Given the description of an element on the screen output the (x, y) to click on. 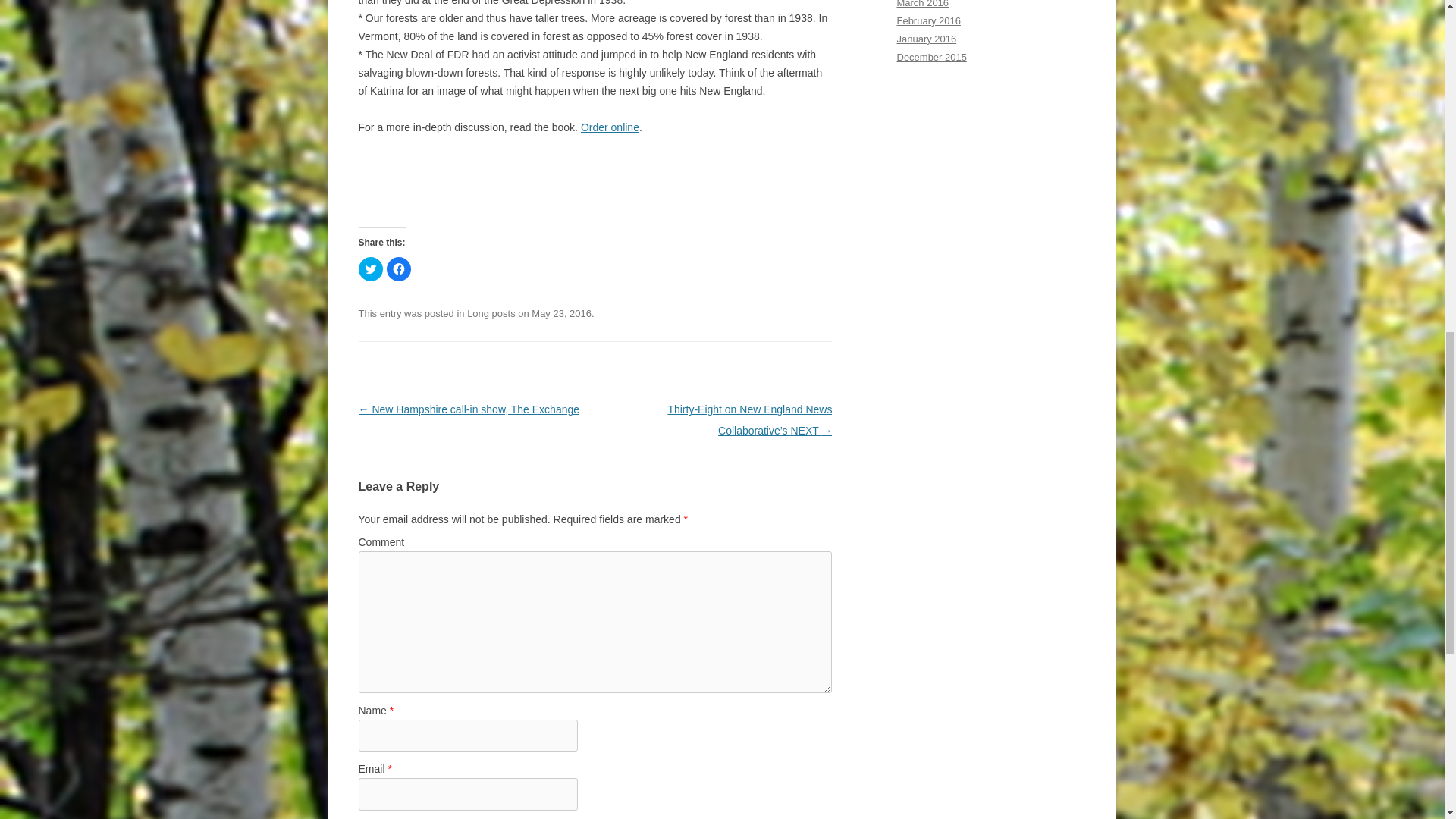
Click to share on Facebook (398, 269)
March 2016 (922, 4)
February 2016 (927, 20)
Click to share on Twitter (369, 269)
Long posts (491, 313)
1:17 pm (561, 313)
May 23, 2016 (561, 313)
Order online (609, 127)
